Given the description of an element on the screen output the (x, y) to click on. 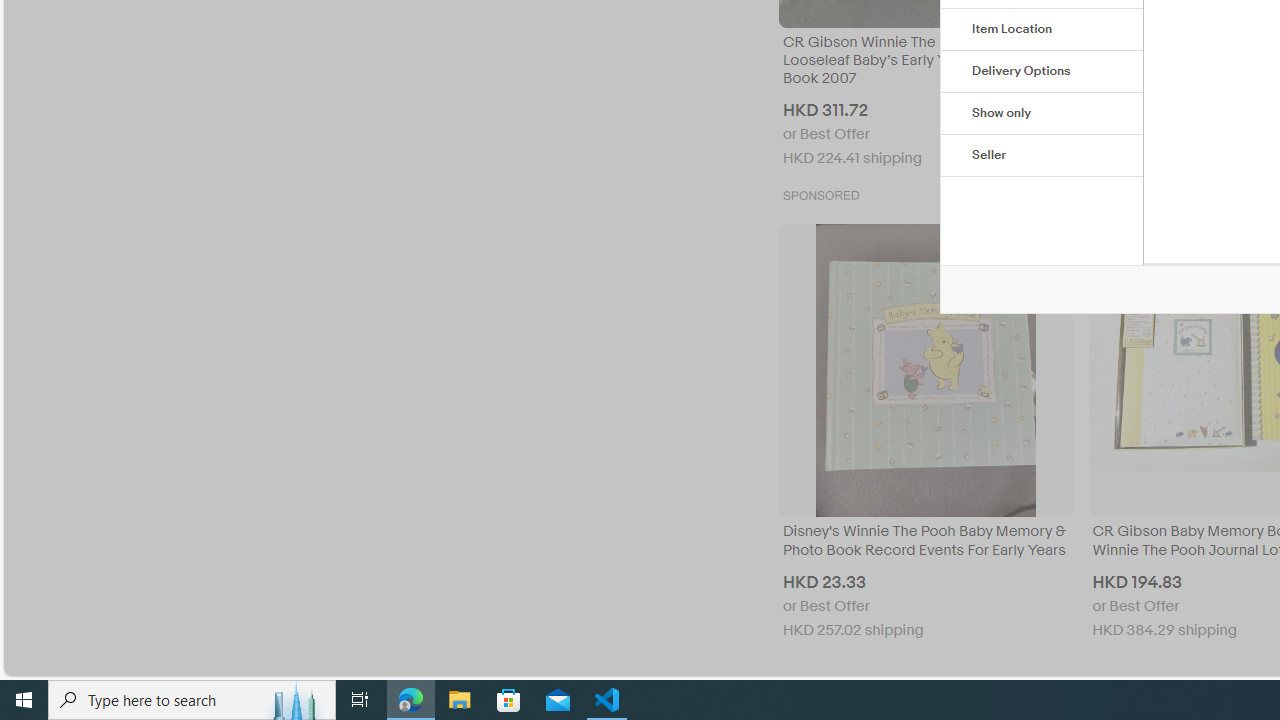
Show only (1042, 113)
Item Location (1042, 29)
Delivery Options (1042, 71)
Seller (1042, 156)
